Given the description of an element on the screen output the (x, y) to click on. 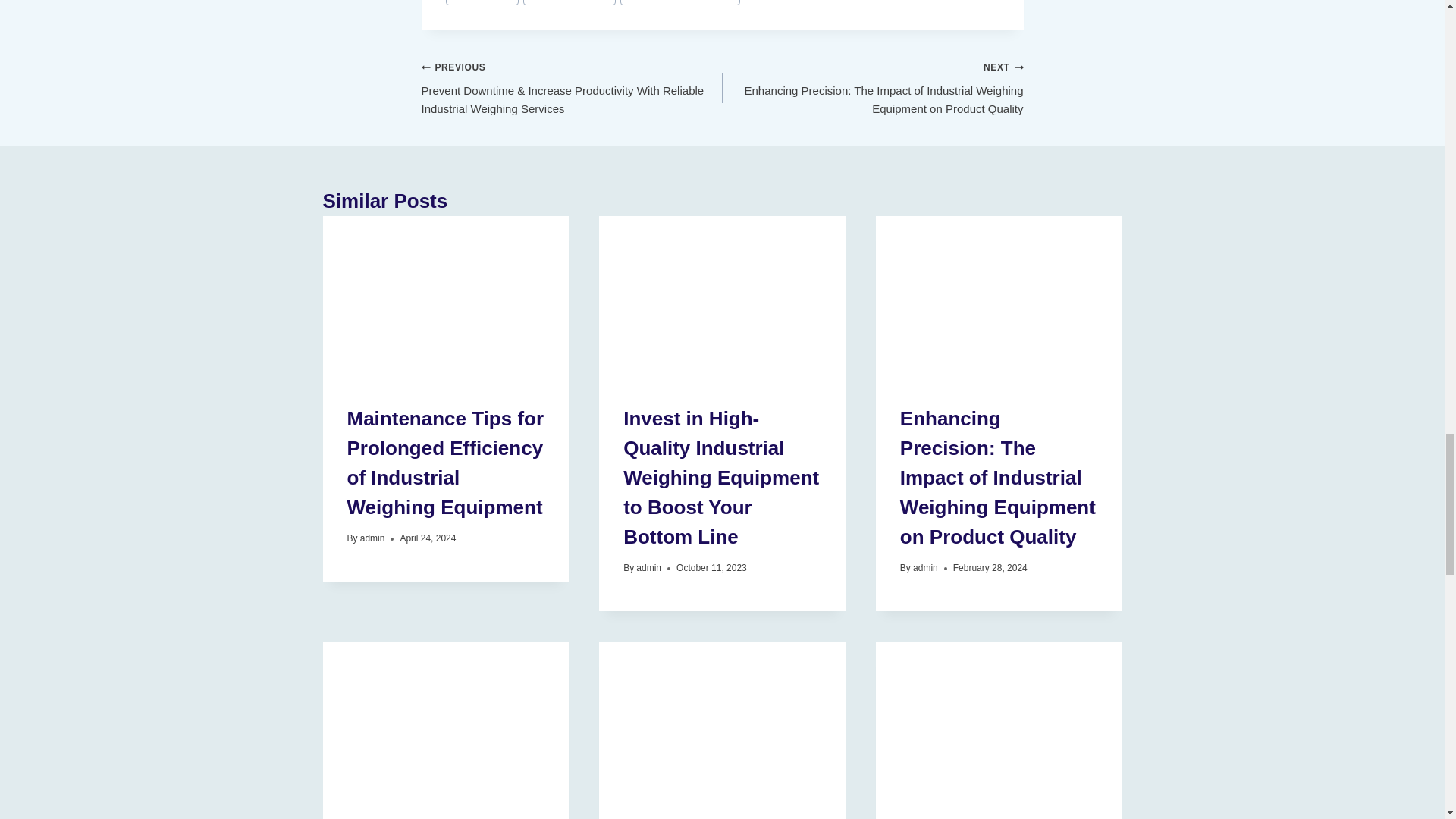
equal arm balance (568, 2)
admin (372, 538)
Industrial Weighing Scale (679, 2)
balance scale (481, 2)
admin (648, 567)
